Given the description of an element on the screen output the (x, y) to click on. 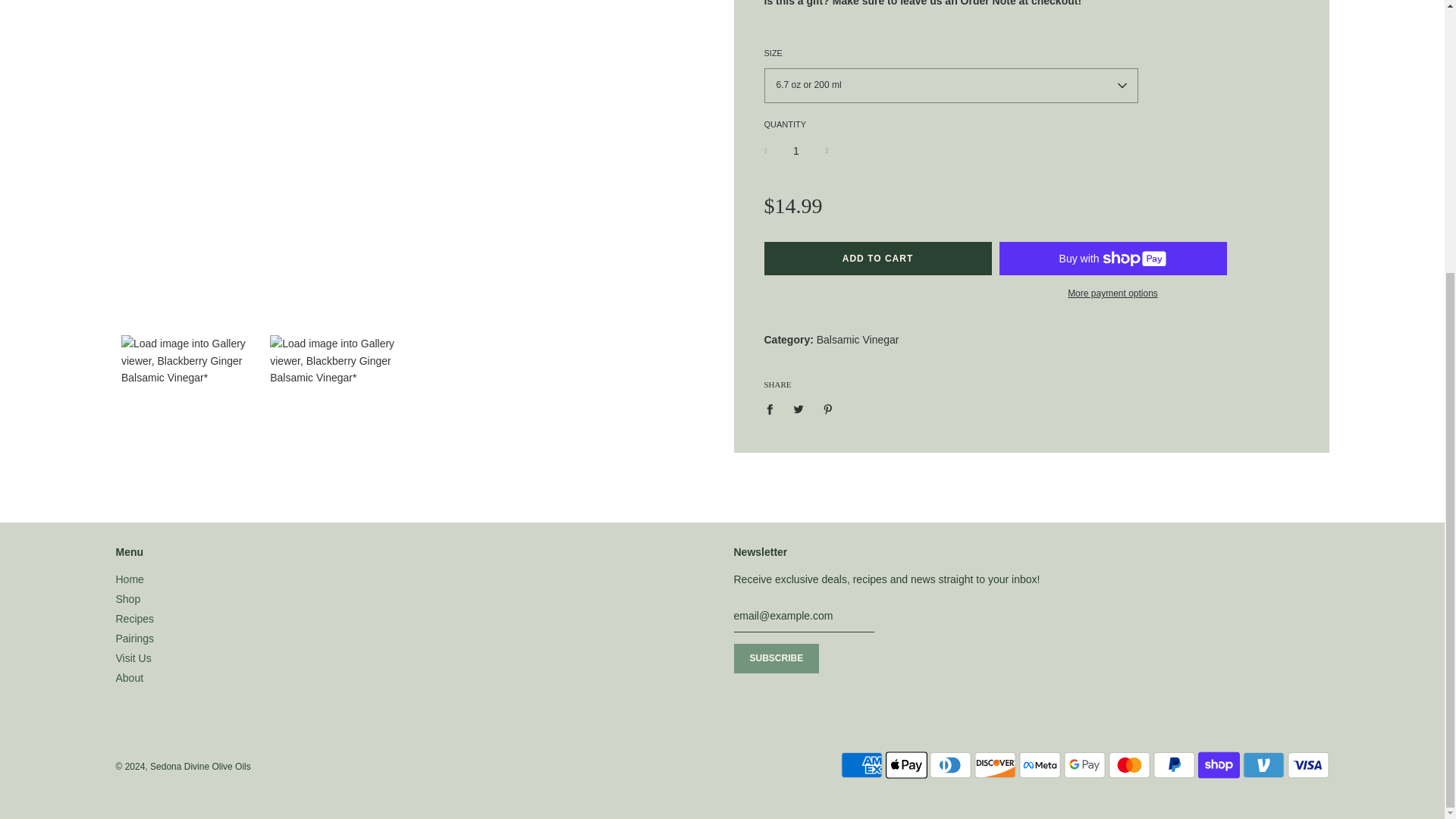
Visa (1308, 765)
Discover (995, 765)
Venmo (1263, 765)
Apple Pay (906, 765)
Mastercard (1129, 765)
Subscribe (776, 658)
Diners Club (950, 765)
Google Pay (1084, 765)
1 (796, 150)
Shop Pay (1219, 765)
Meta Pay (1040, 765)
American Express (861, 765)
PayPal (1174, 765)
